Given the description of an element on the screen output the (x, y) to click on. 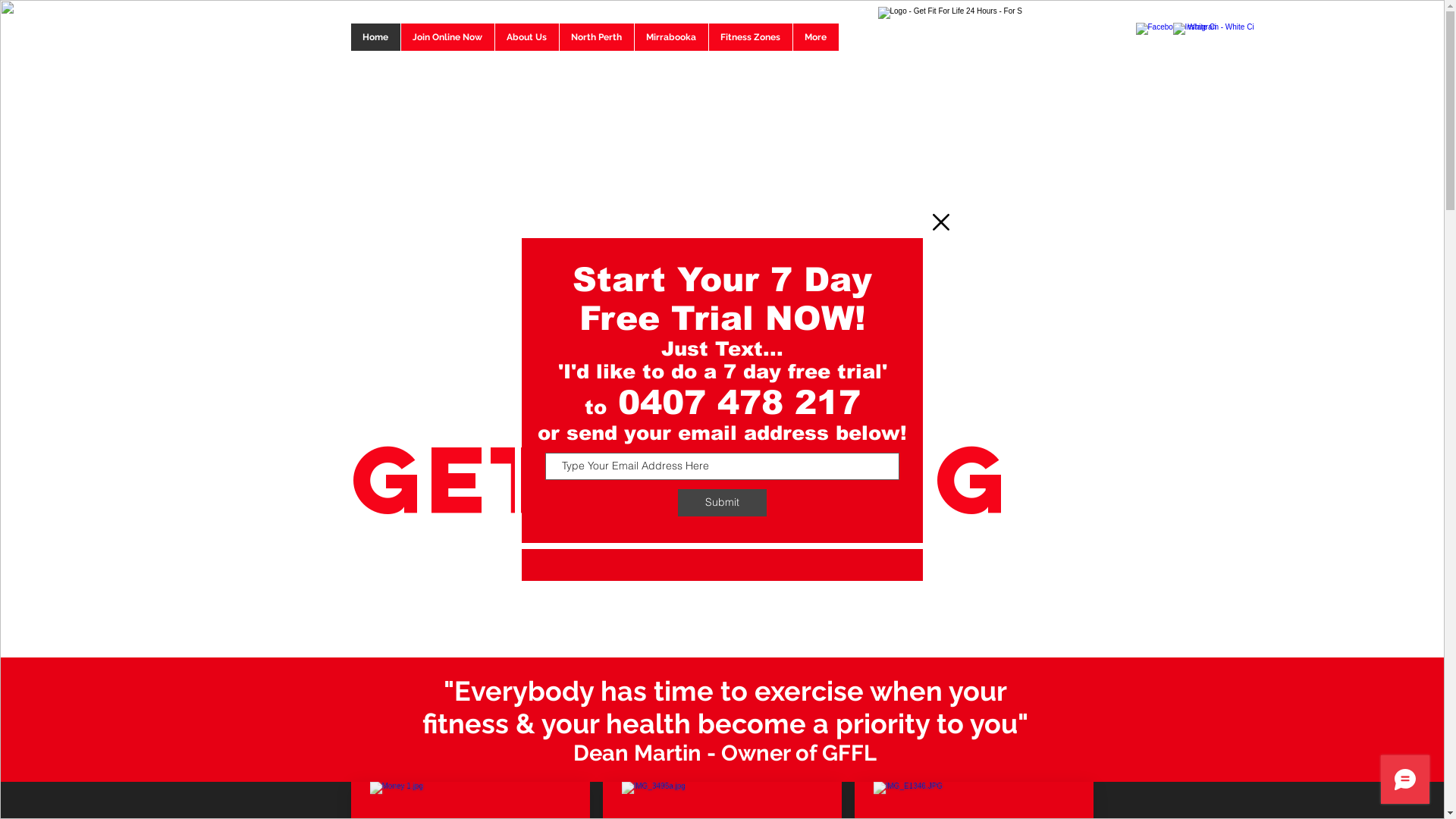
Back to site Element type: hover (940, 221)
North Perth Element type: text (595, 36)
Home Element type: text (374, 36)
Join Online Now Element type: text (447, 36)
About Us Element type: text (526, 36)
Mirrabooka Element type: text (670, 36)
Submit Element type: text (721, 502)
Fitness Zones Element type: text (750, 36)
